Given the description of an element on the screen output the (x, y) to click on. 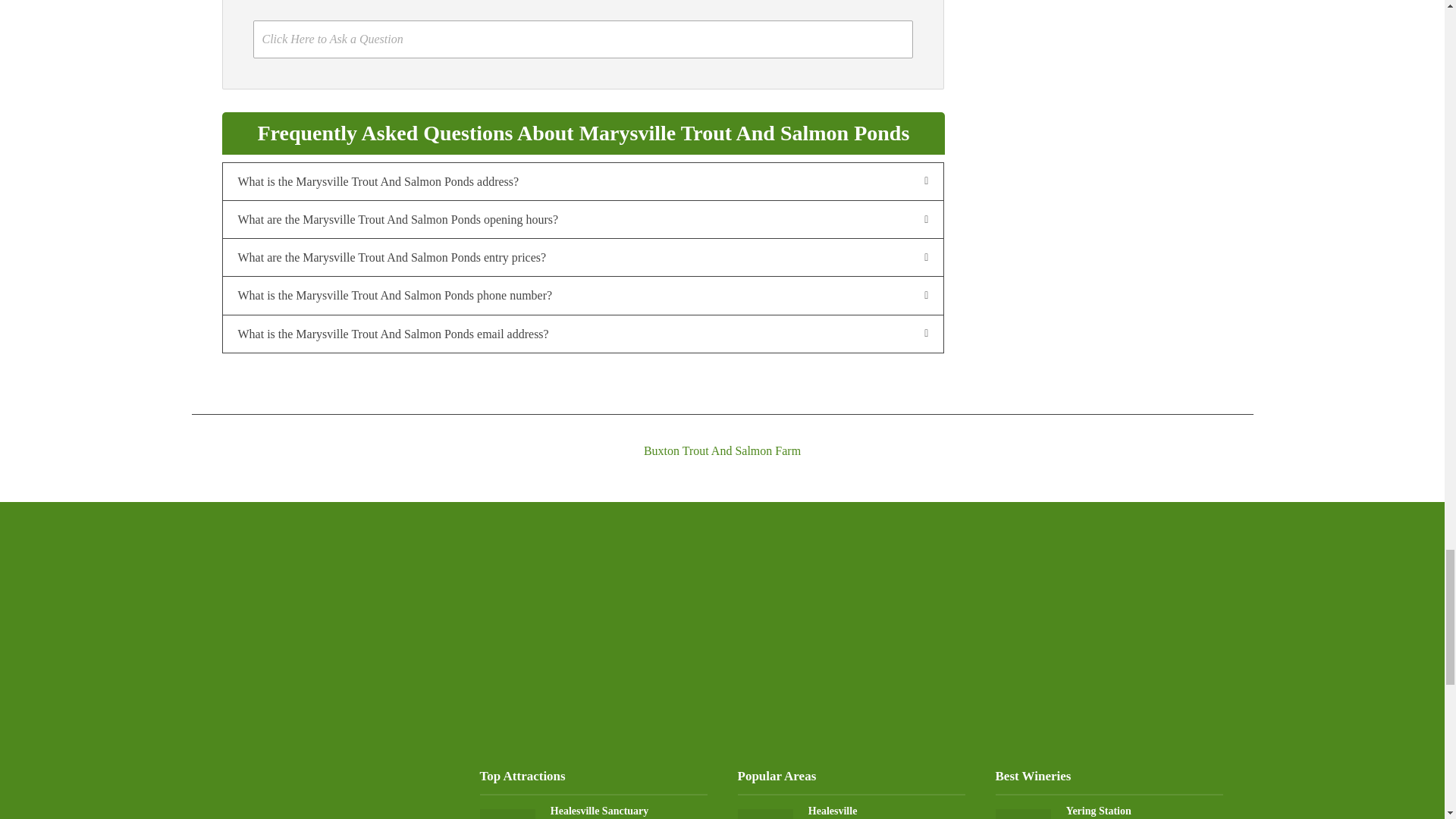
Buxton Trout And Salmon Farm (721, 437)
